Given the description of an element on the screen output the (x, y) to click on. 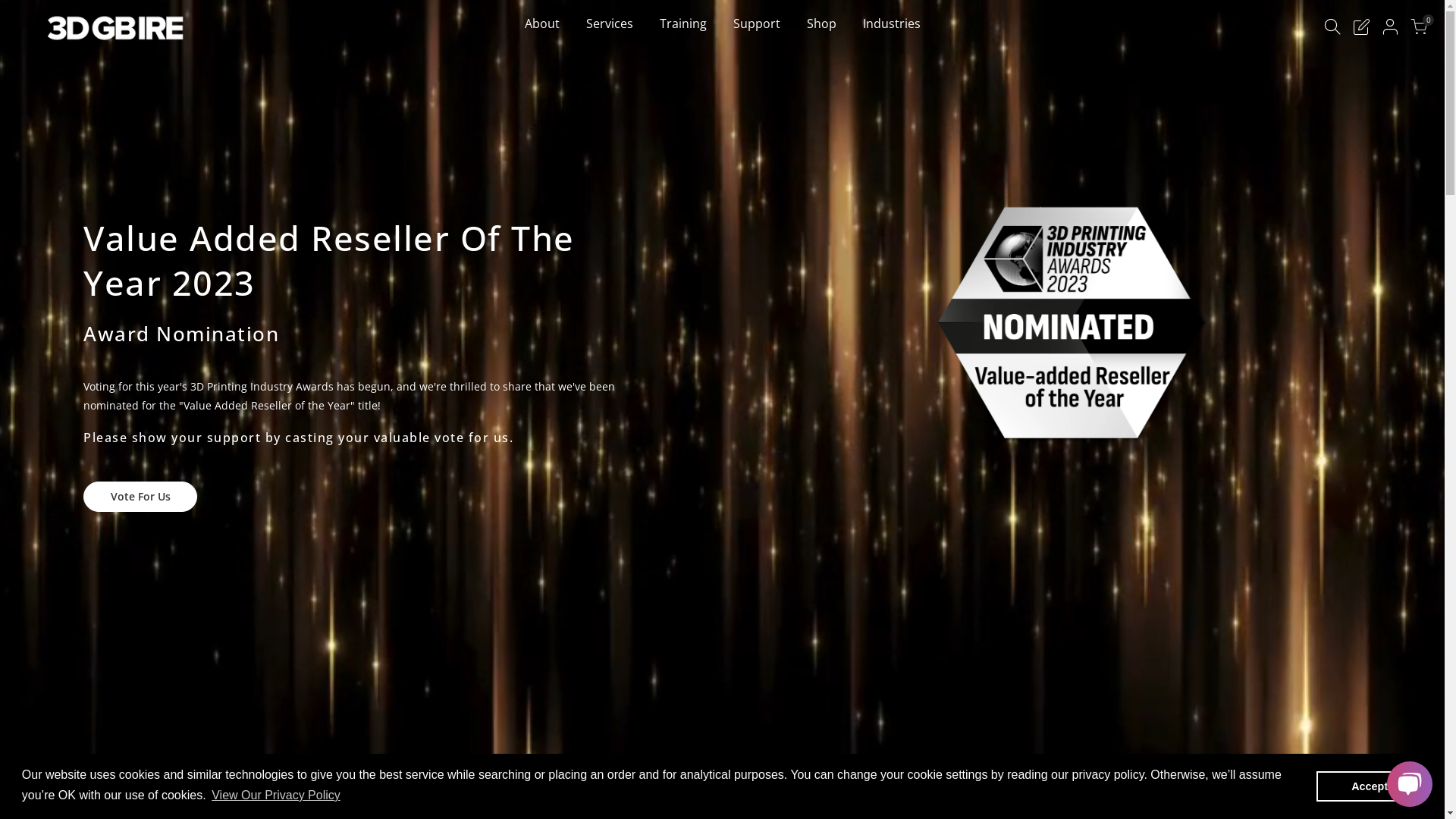
Vote For Us Element type: text (140, 496)
View Quote Request Element type: hover (1360, 29)
About Element type: text (541, 44)
0 Element type: text (1418, 29)
Shop Element type: text (821, 44)
Accept Element type: text (1369, 786)
Services Element type: text (609, 44)
View Our Privacy Policy Element type: text (275, 795)
Support Element type: text (756, 44)
Industries Element type: text (891, 44)
Training Element type: text (682, 44)
